Given the description of an element on the screen output the (x, y) to click on. 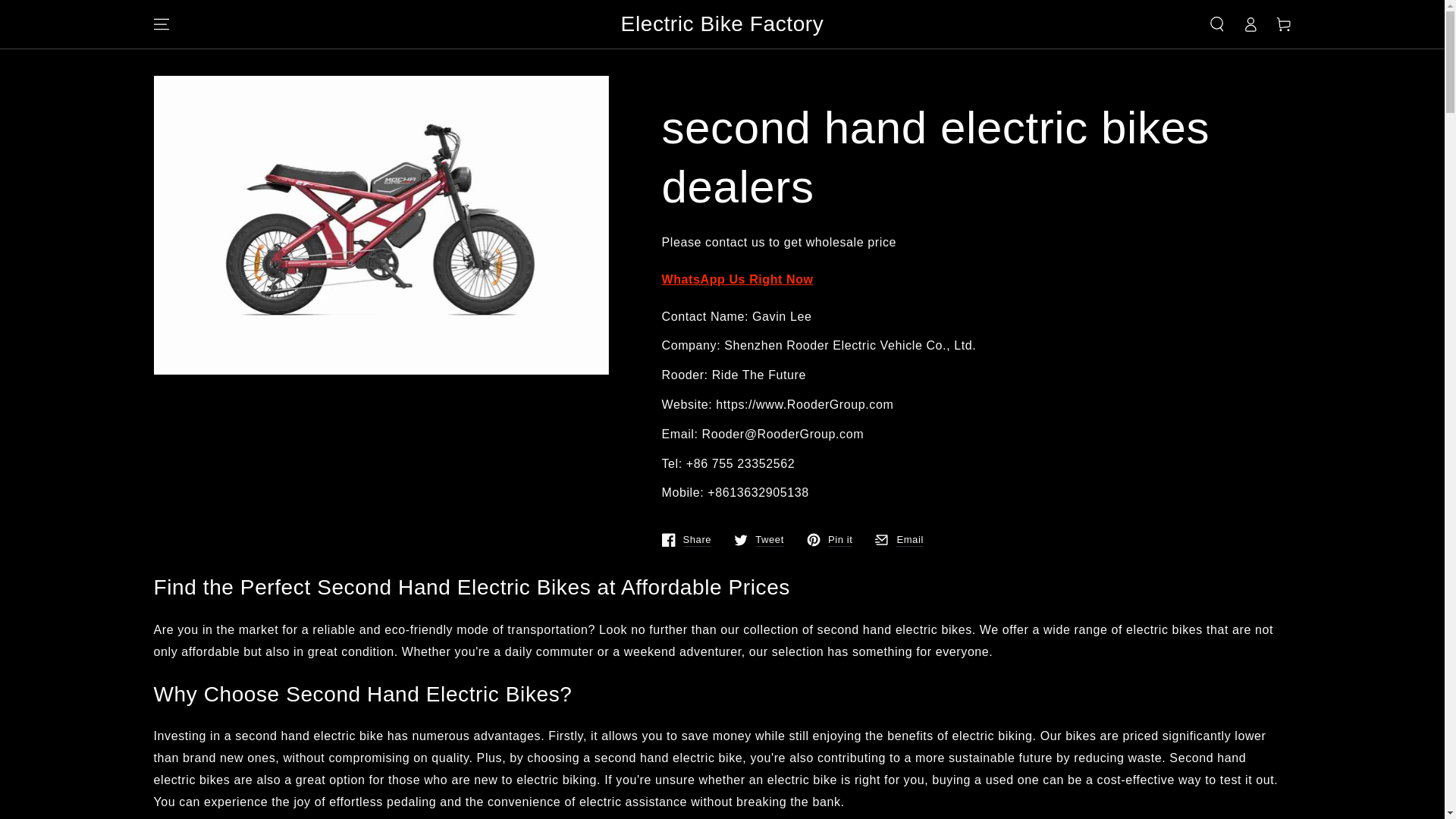
WhatsApp Us Right Now (736, 278)
Electric Bike Factory (722, 24)
Log in (1249, 23)
SKIP TO CONTENT (899, 539)
SKIP TO PRODUCT INFORMATION (758, 539)
